Given the description of an element on the screen output the (x, y) to click on. 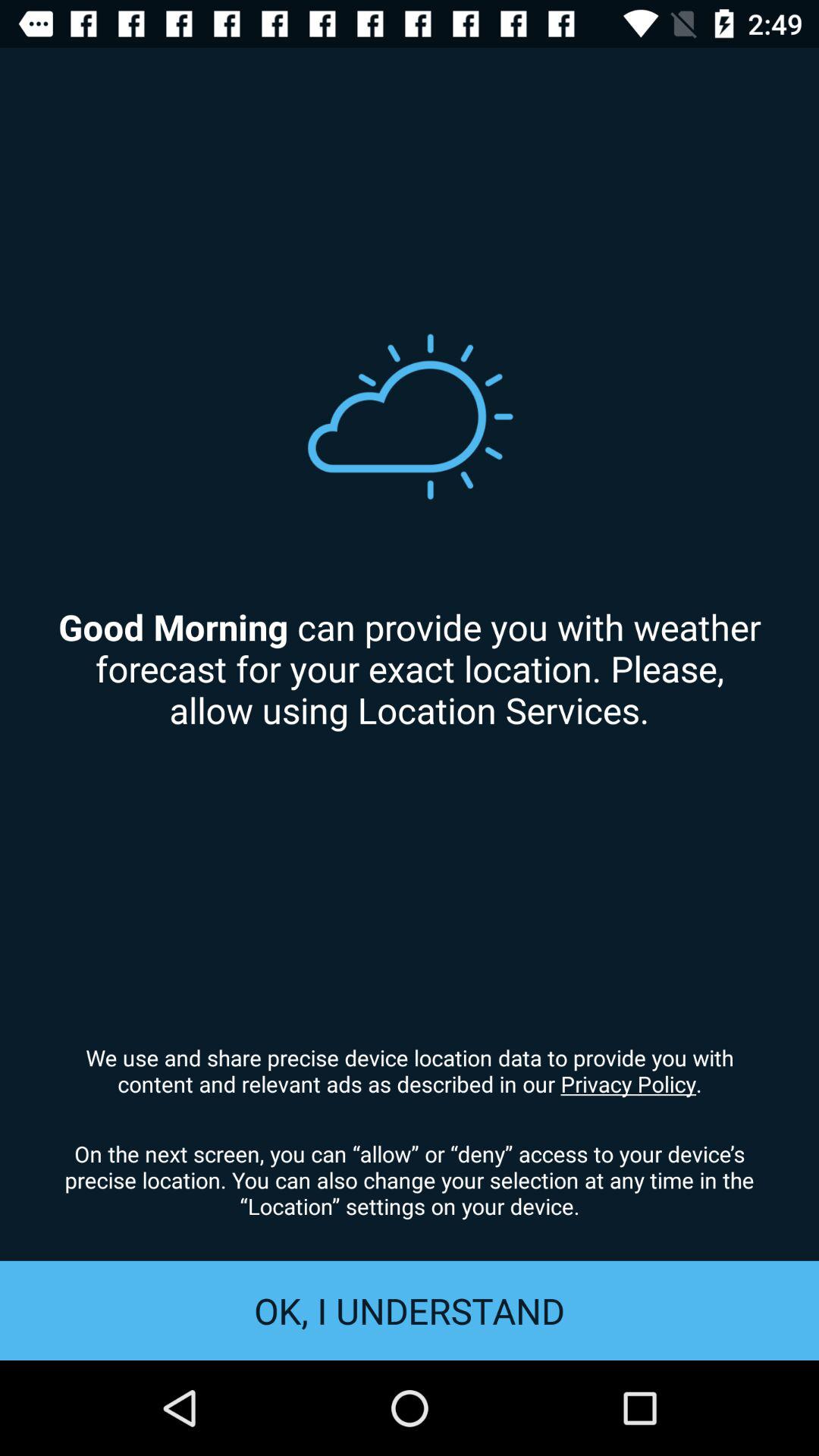
swipe to the ok, i understand (409, 1310)
